Given the description of an element on the screen output the (x, y) to click on. 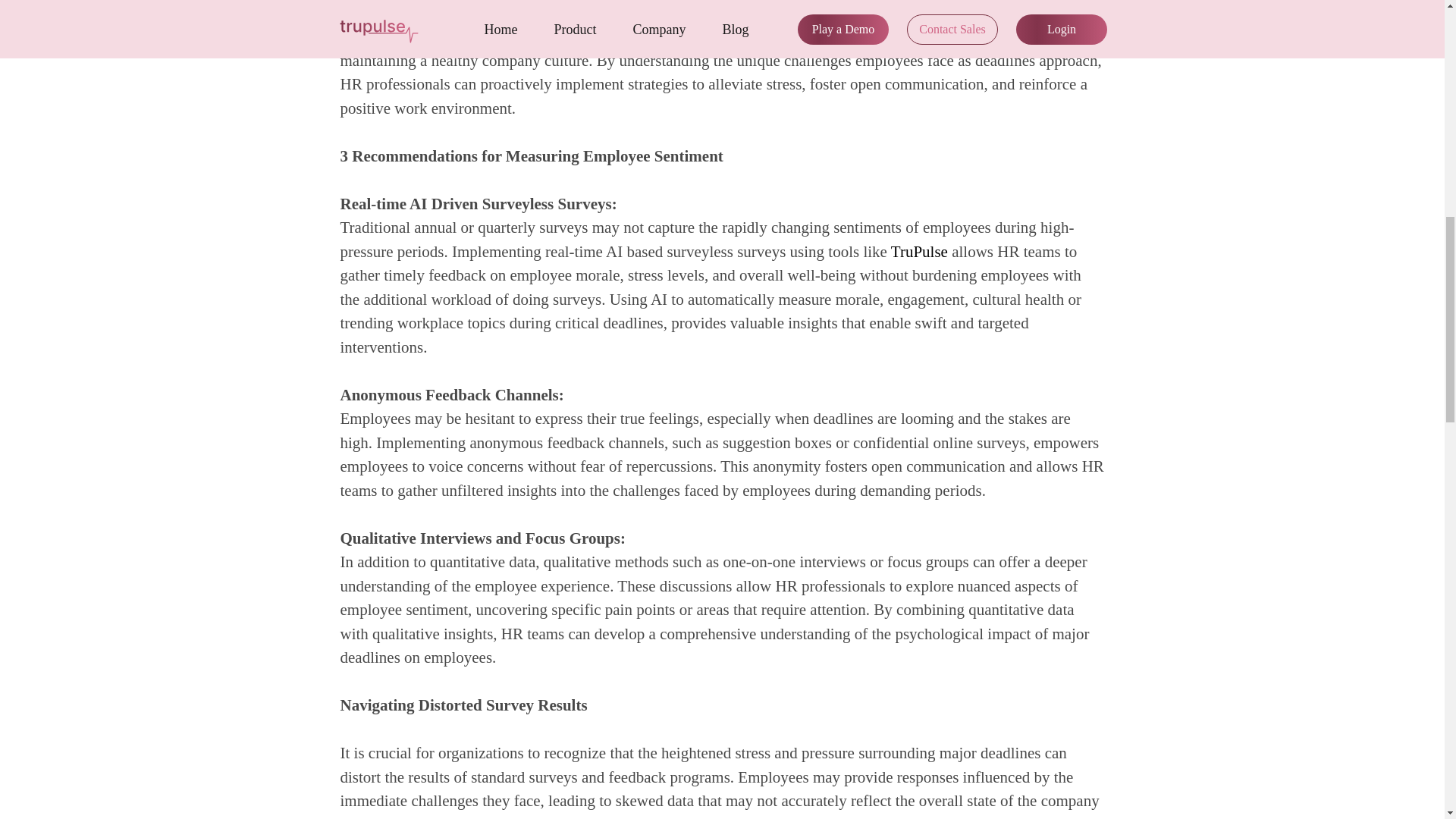
TruPulse (919, 251)
